Given the description of an element on the screen output the (x, y) to click on. 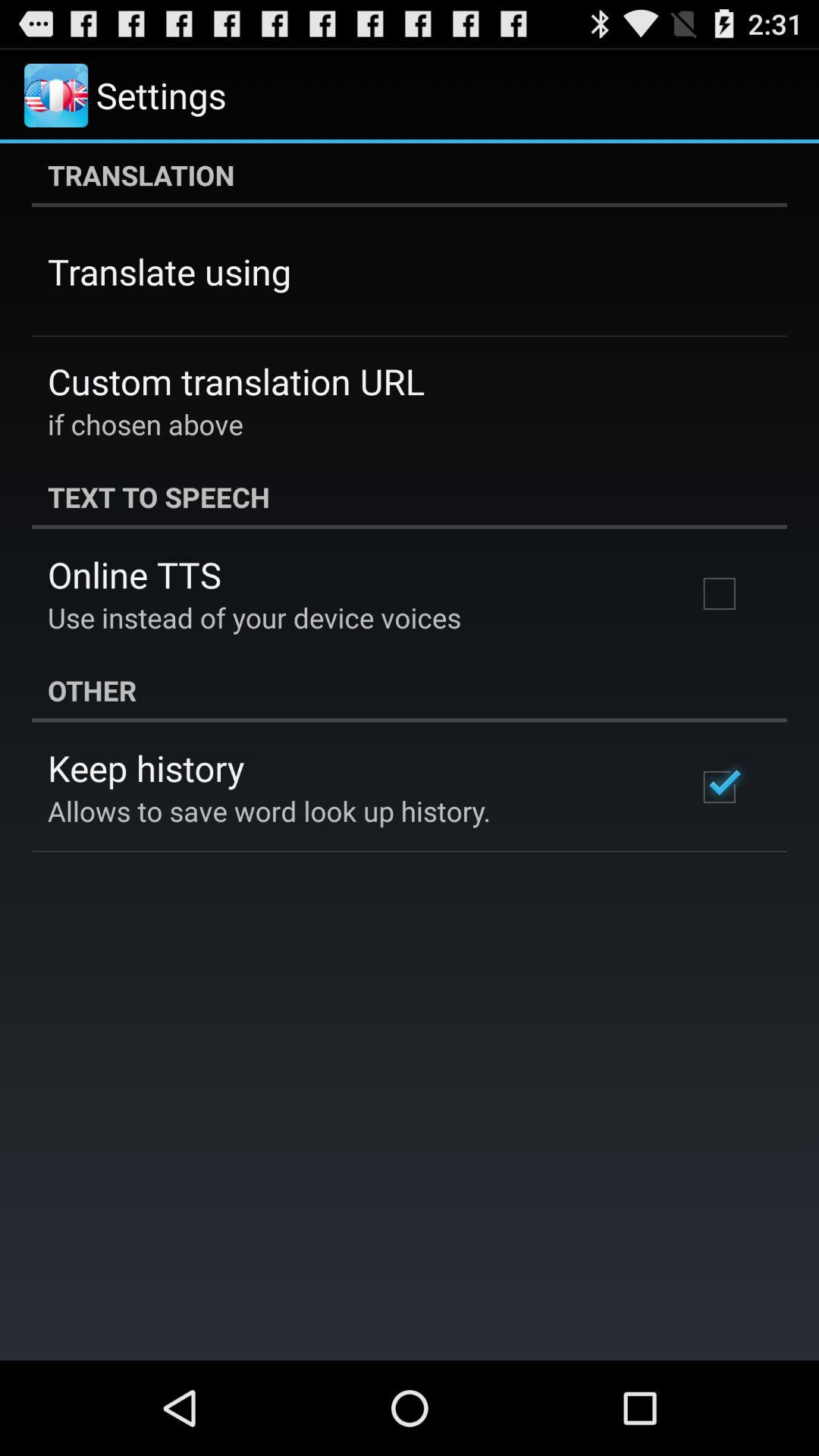
select app below the if chosen above (409, 496)
